Given the description of an element on the screen output the (x, y) to click on. 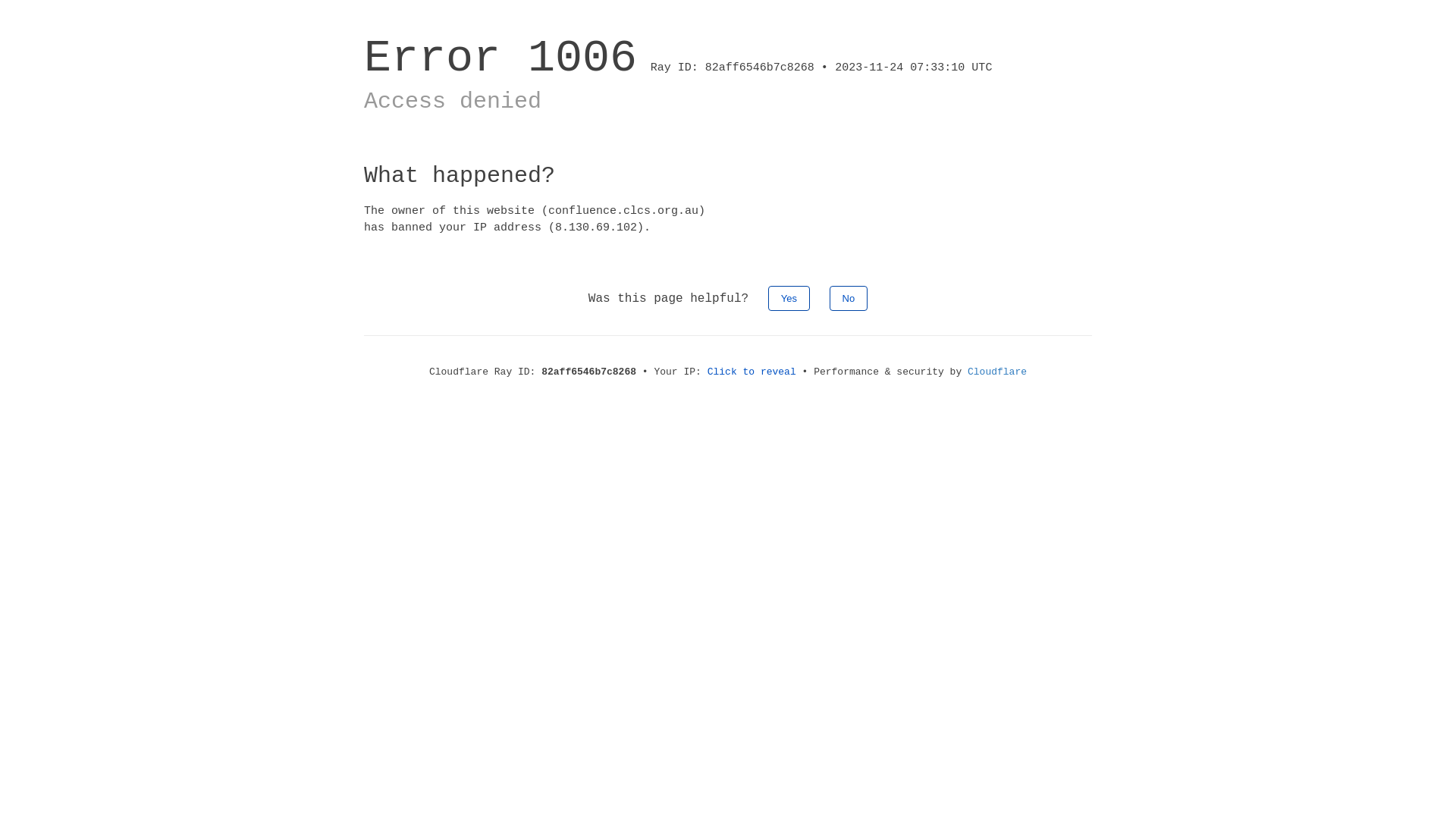
No Element type: text (848, 297)
Cloudflare Element type: text (996, 370)
Yes Element type: text (788, 297)
Click to reveal Element type: text (751, 370)
